Given the description of an element on the screen output the (x, y) to click on. 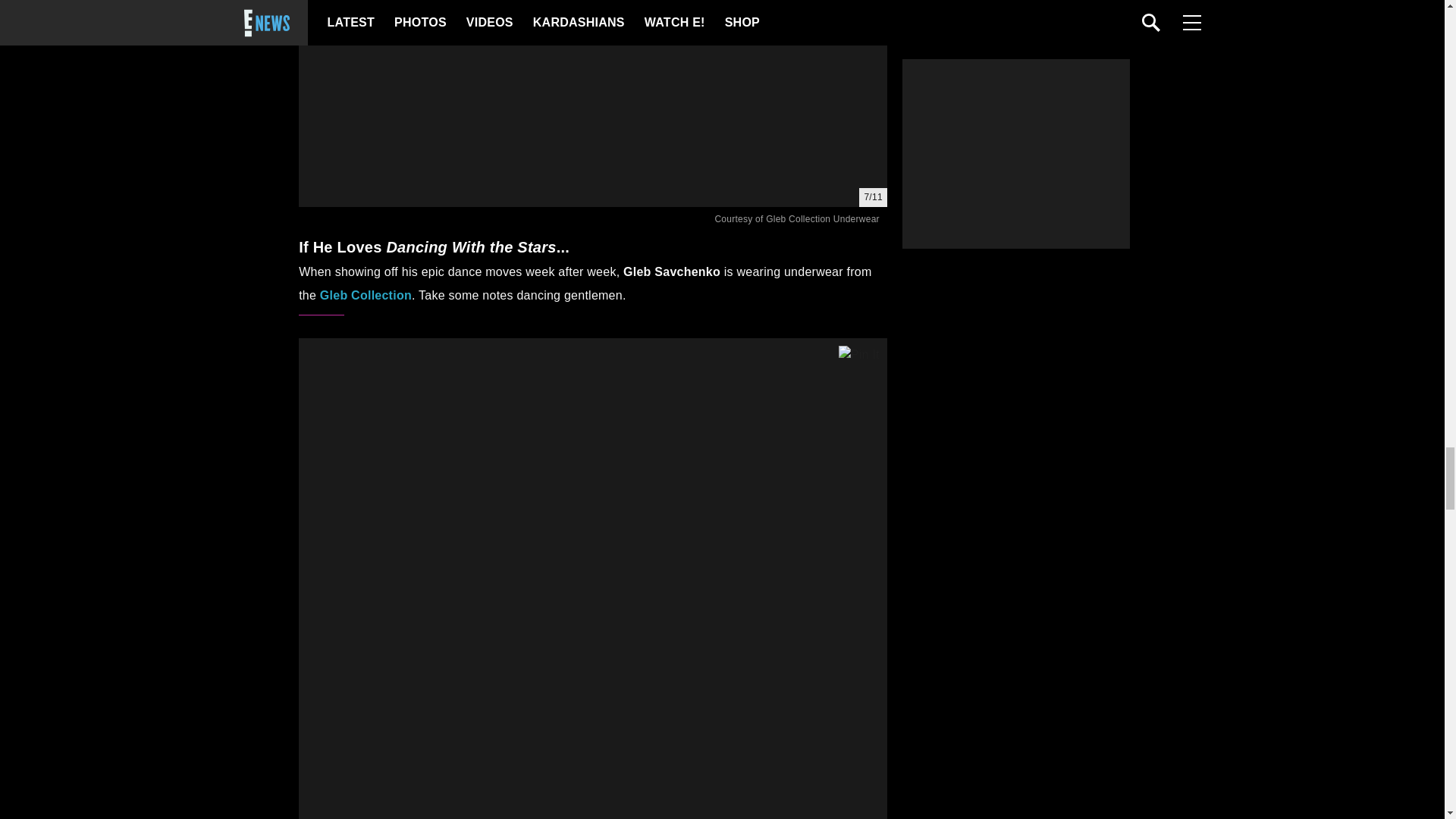
Gleb Collection (366, 295)
